Given the description of an element on the screen output the (x, y) to click on. 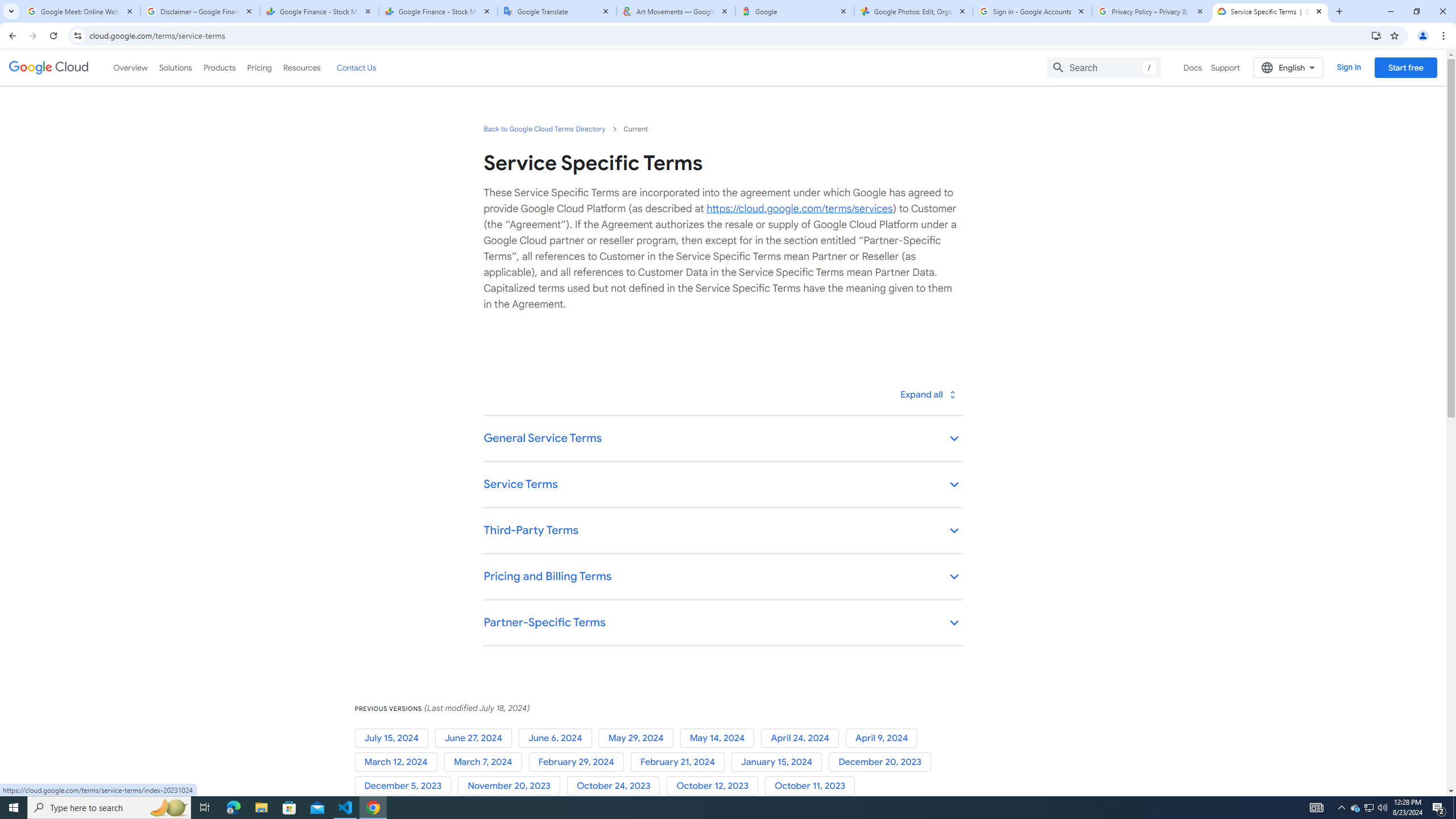
October 11, 2023 (812, 786)
May 14, 2024 (720, 737)
February 29, 2024 (579, 761)
October 24, 2023 (616, 786)
May 29, 2024 (638, 737)
Service Terms keyboard_arrow_down (722, 485)
Start free (1405, 67)
